Given the description of an element on the screen output the (x, y) to click on. 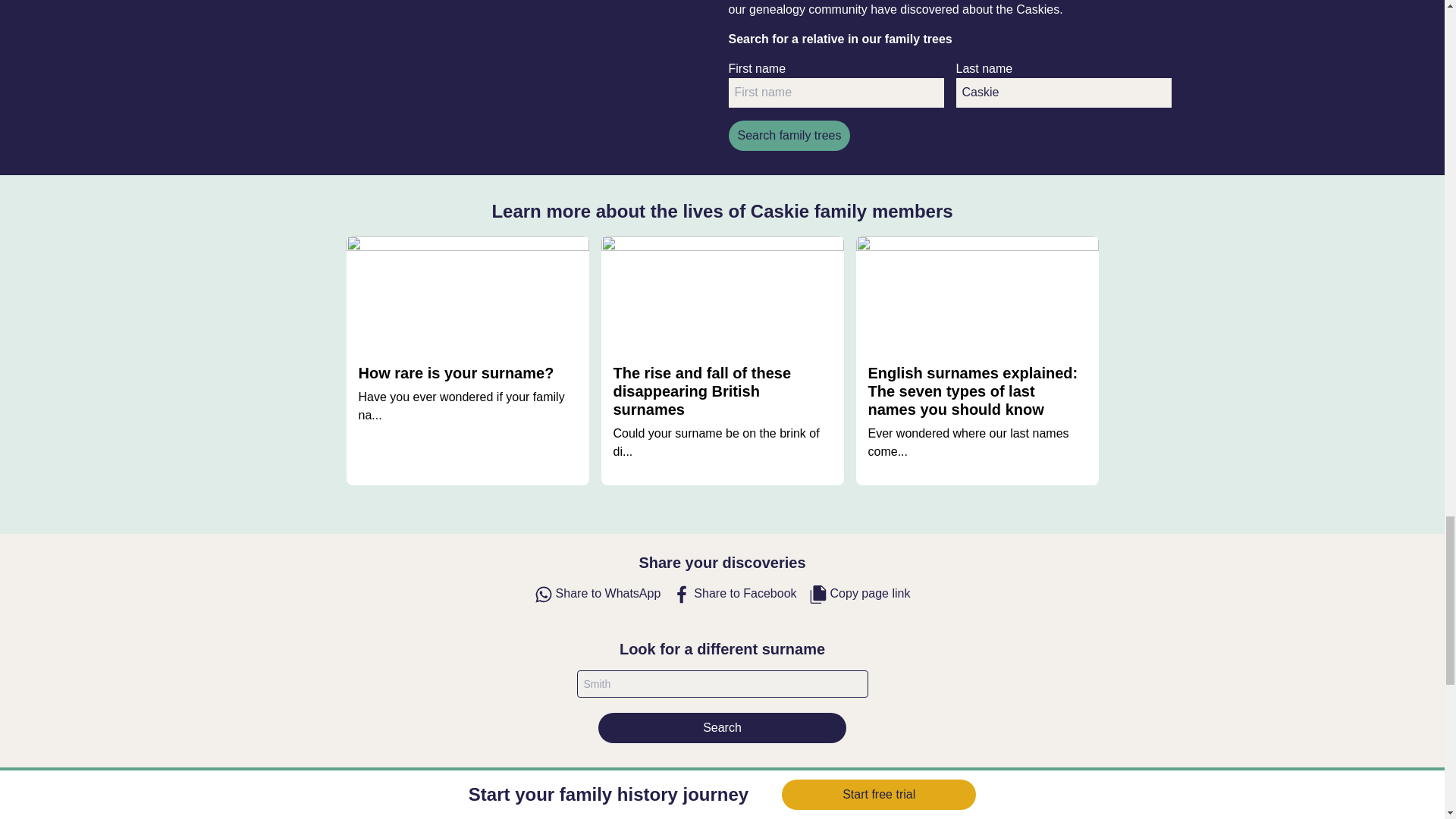
Share to WhatsApp (597, 594)
Share to Facebook (734, 594)
Caskie (1062, 92)
Search (721, 727)
Search family trees (789, 135)
Copy page link (860, 594)
